Given the description of an element on the screen output the (x, y) to click on. 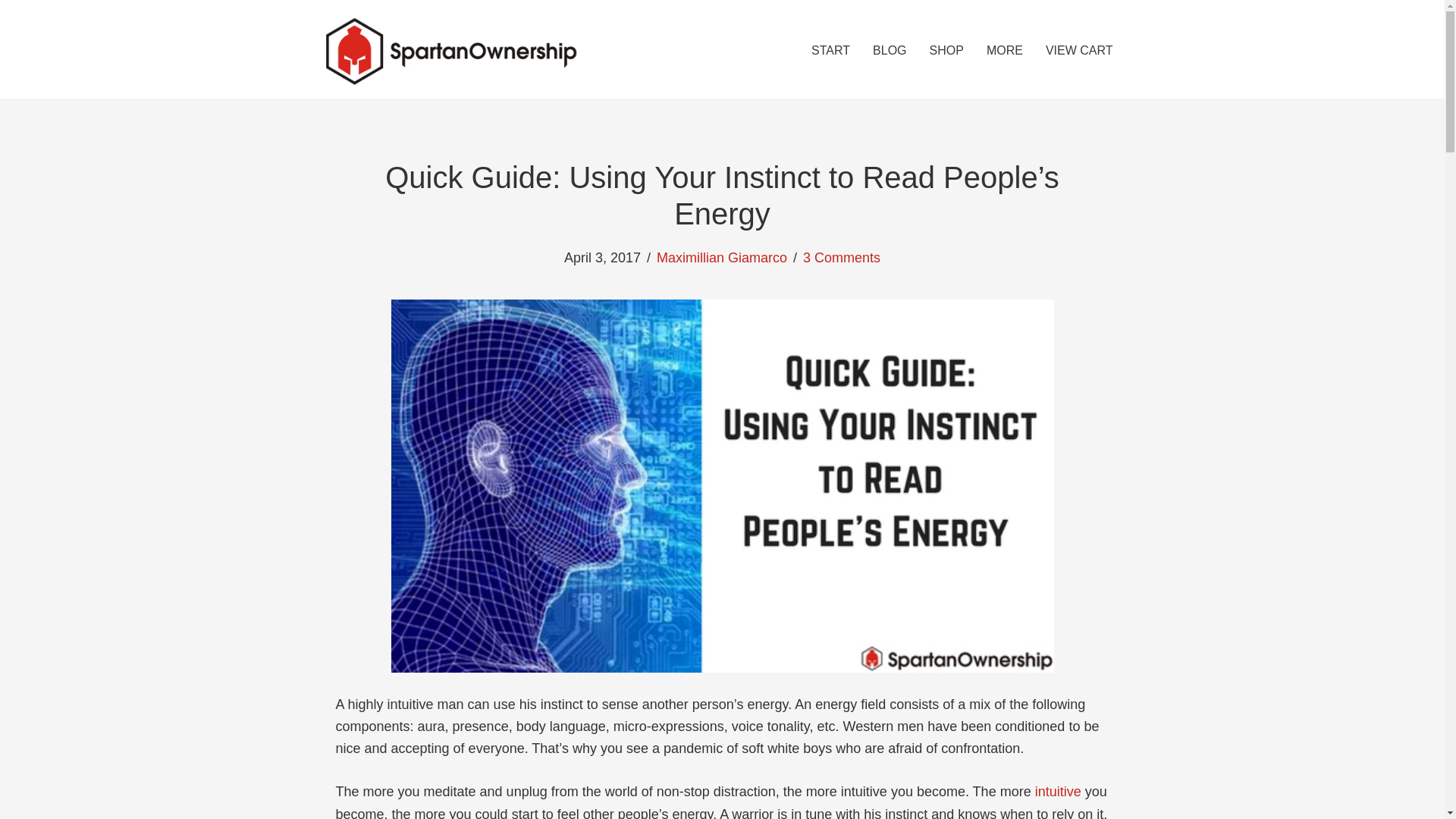
START (830, 50)
3 Comments (841, 257)
MORE (1004, 50)
BLOG (889, 50)
Maximillian Giamarco (721, 257)
VIEW CART (1079, 50)
SHOP (946, 50)
logow (450, 50)
intuitive (1059, 791)
